Given the description of an element on the screen output the (x, y) to click on. 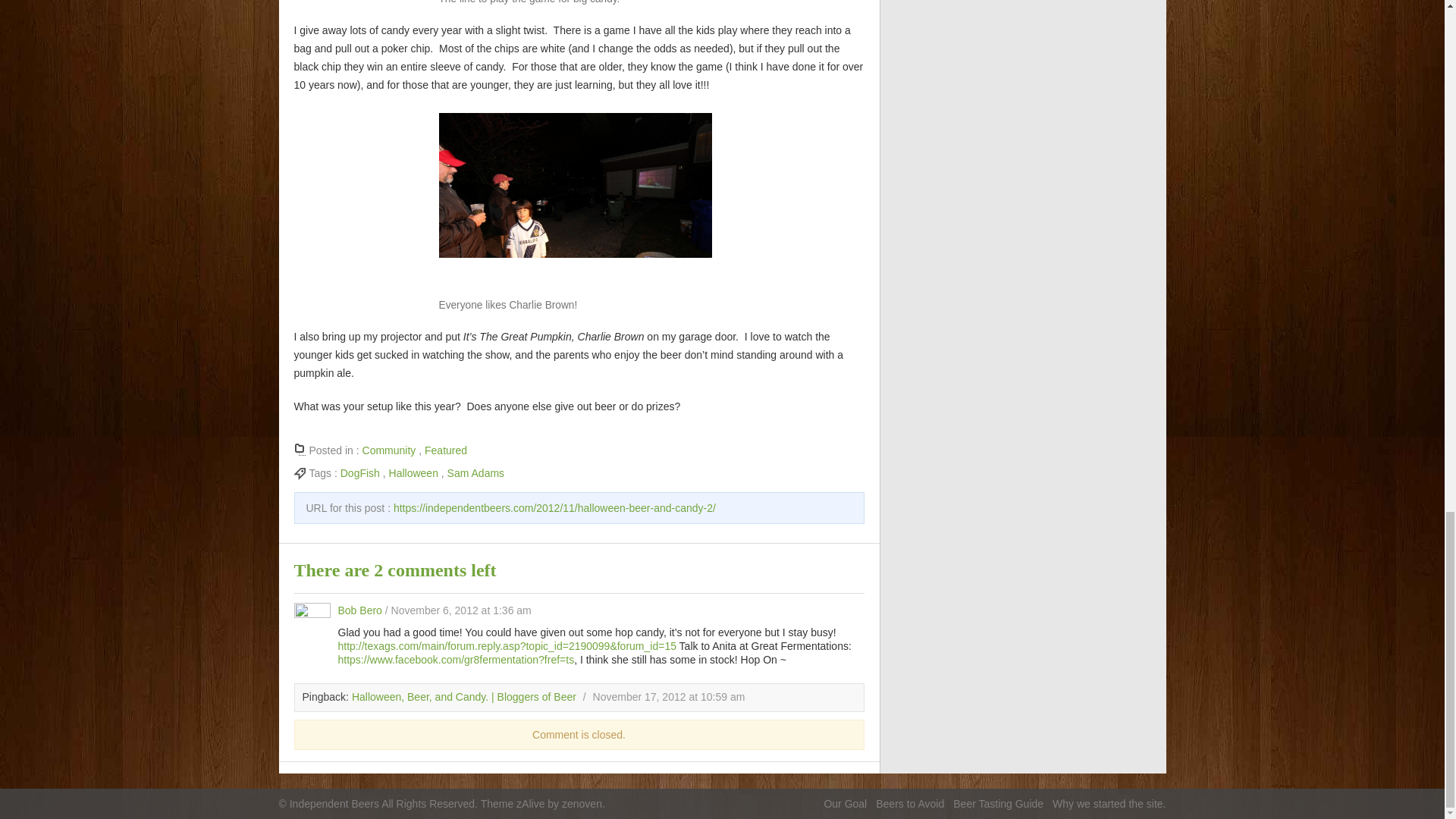
Halloween (413, 472)
Bob Bero (359, 610)
Sam Adams (474, 472)
Featured (446, 450)
Community (389, 450)
Everyone likes Charlie Brown! (574, 203)
DogFish (360, 472)
